Given the description of an element on the screen output the (x, y) to click on. 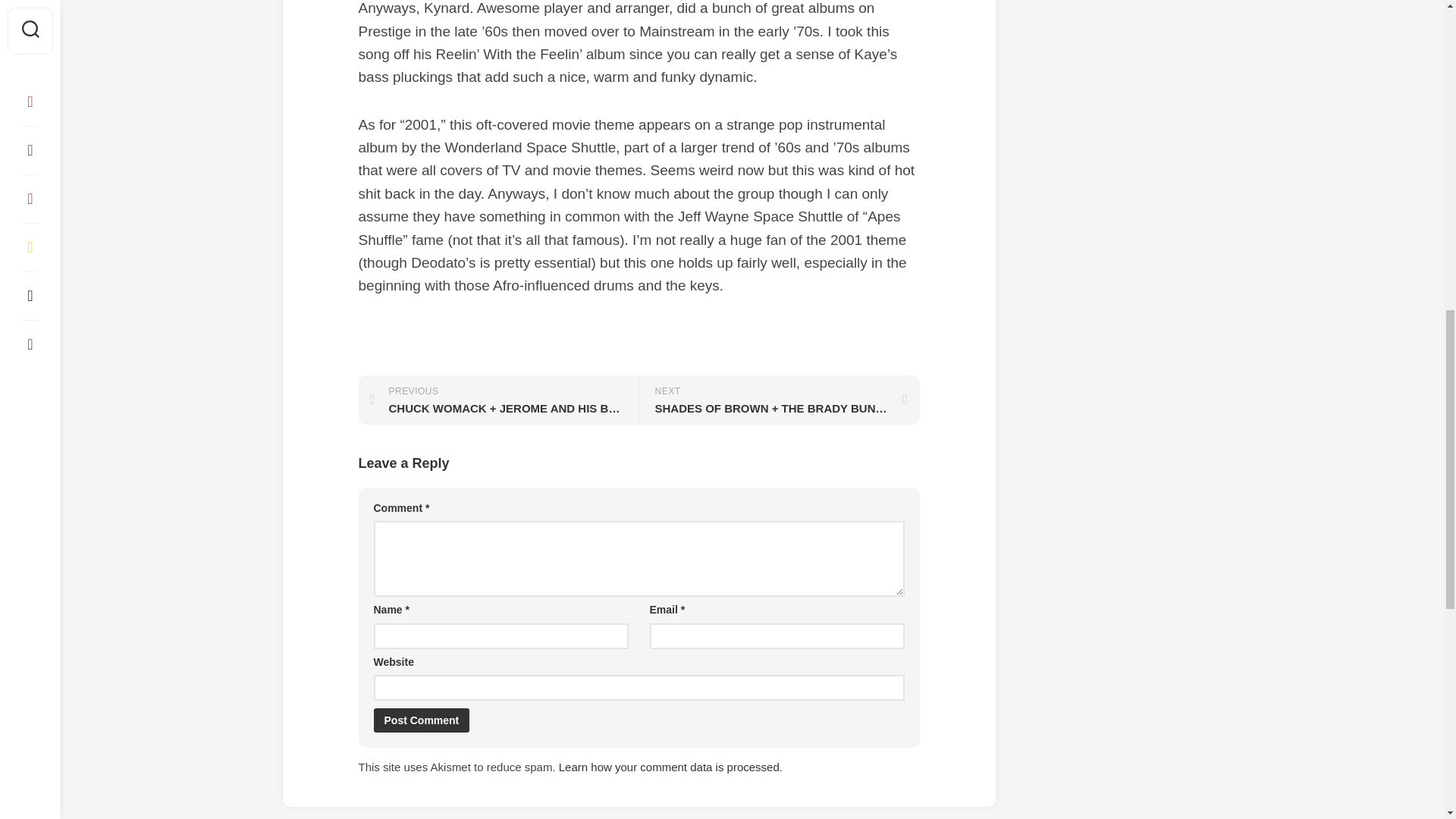
Learn how your comment data is processed (668, 766)
Post Comment (420, 720)
Post Comment (420, 720)
